Given the description of an element on the screen output the (x, y) to click on. 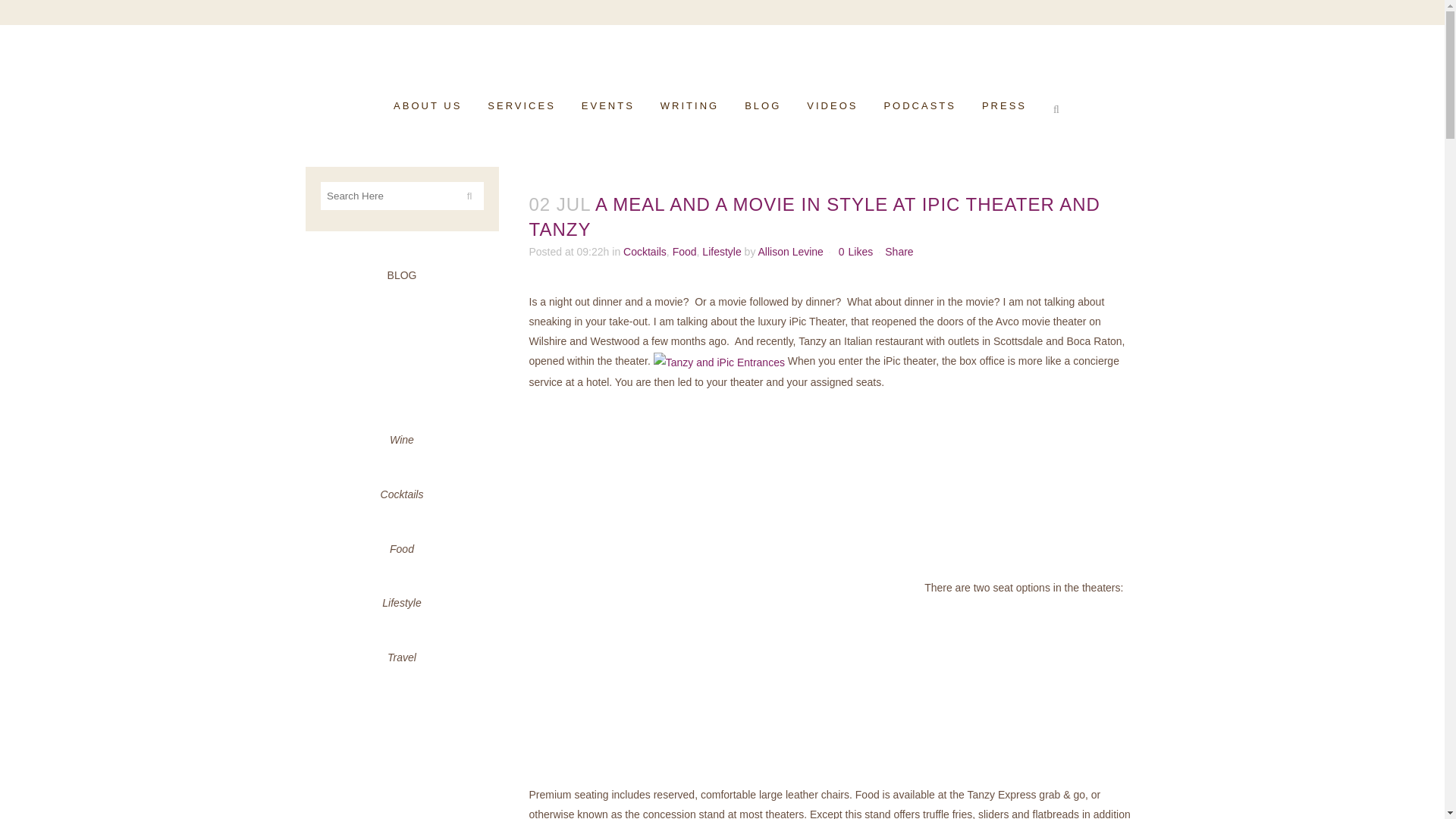
EVENTS (608, 105)
PODCASTS (919, 105)
SERVICES (521, 105)
Like this (855, 251)
VIDEOS (831, 105)
PRESS (1004, 105)
ABOUT US (427, 105)
WRITING (689, 105)
